Given the description of an element on the screen output the (x, y) to click on. 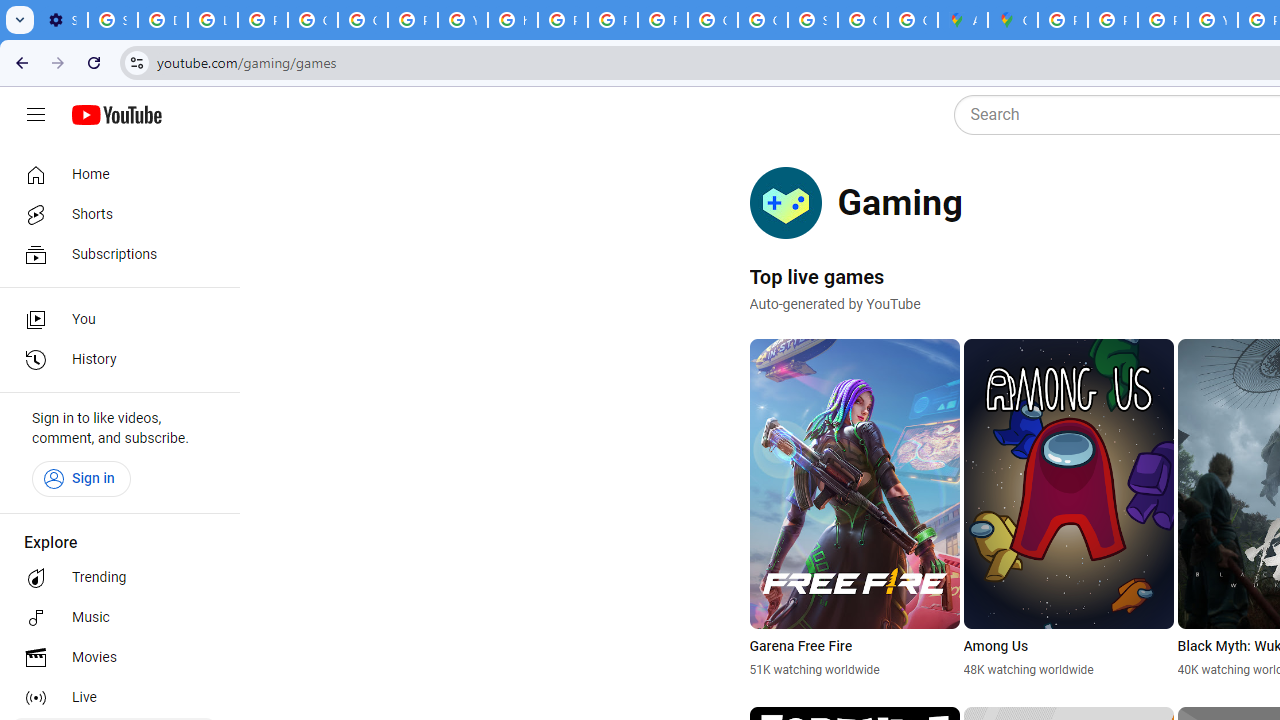
Sign in - Google Accounts (813, 20)
Google Maps (1013, 20)
Create your Google Account (913, 20)
Shorts (113, 214)
Subscriptions (113, 254)
Live (113, 697)
